Given the description of an element on the screen output the (x, y) to click on. 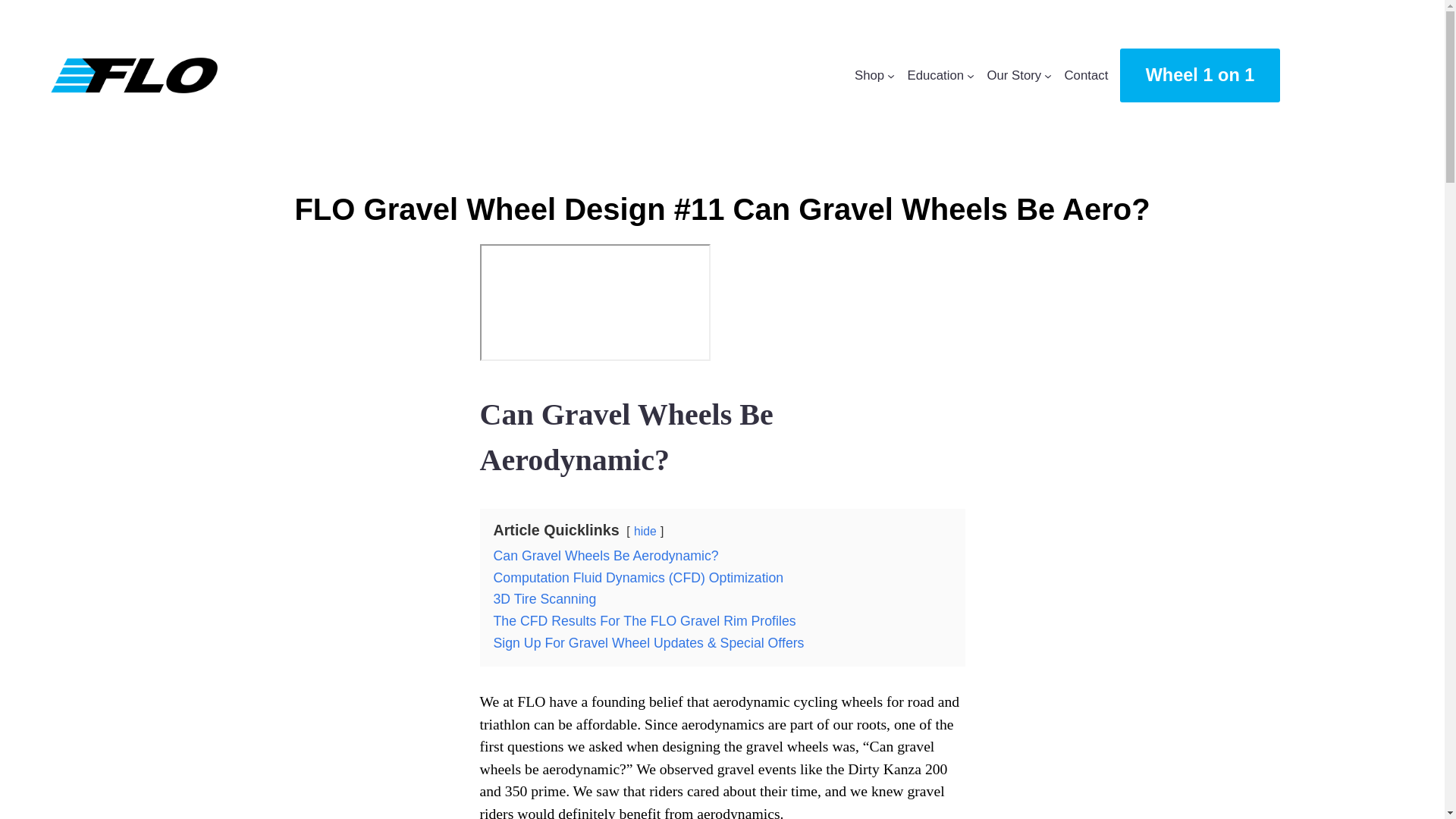
3D Tire Scanning (544, 598)
Can Gravel Wheels Be Aerodynamic? (605, 555)
Our Story (1014, 75)
Wheel 1 on 1 (1199, 75)
Contact (1086, 75)
hide (644, 530)
Shop (868, 75)
Education (935, 75)
The CFD Results For The FLO Gravel Rim Profiles (643, 620)
